Given the description of an element on the screen output the (x, y) to click on. 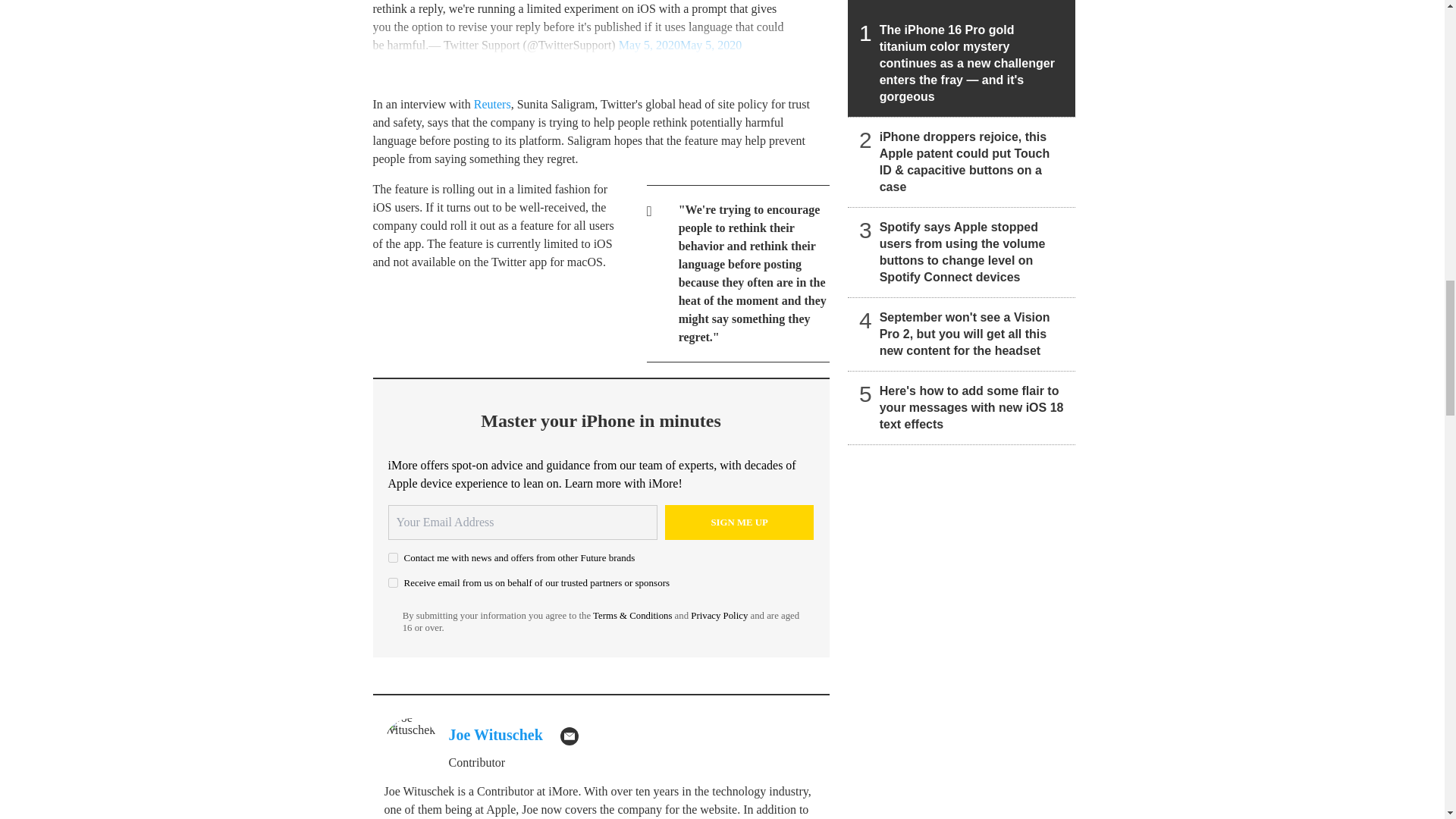
on (392, 557)
Sign me up (739, 522)
on (392, 583)
